Given the description of an element on the screen output the (x, y) to click on. 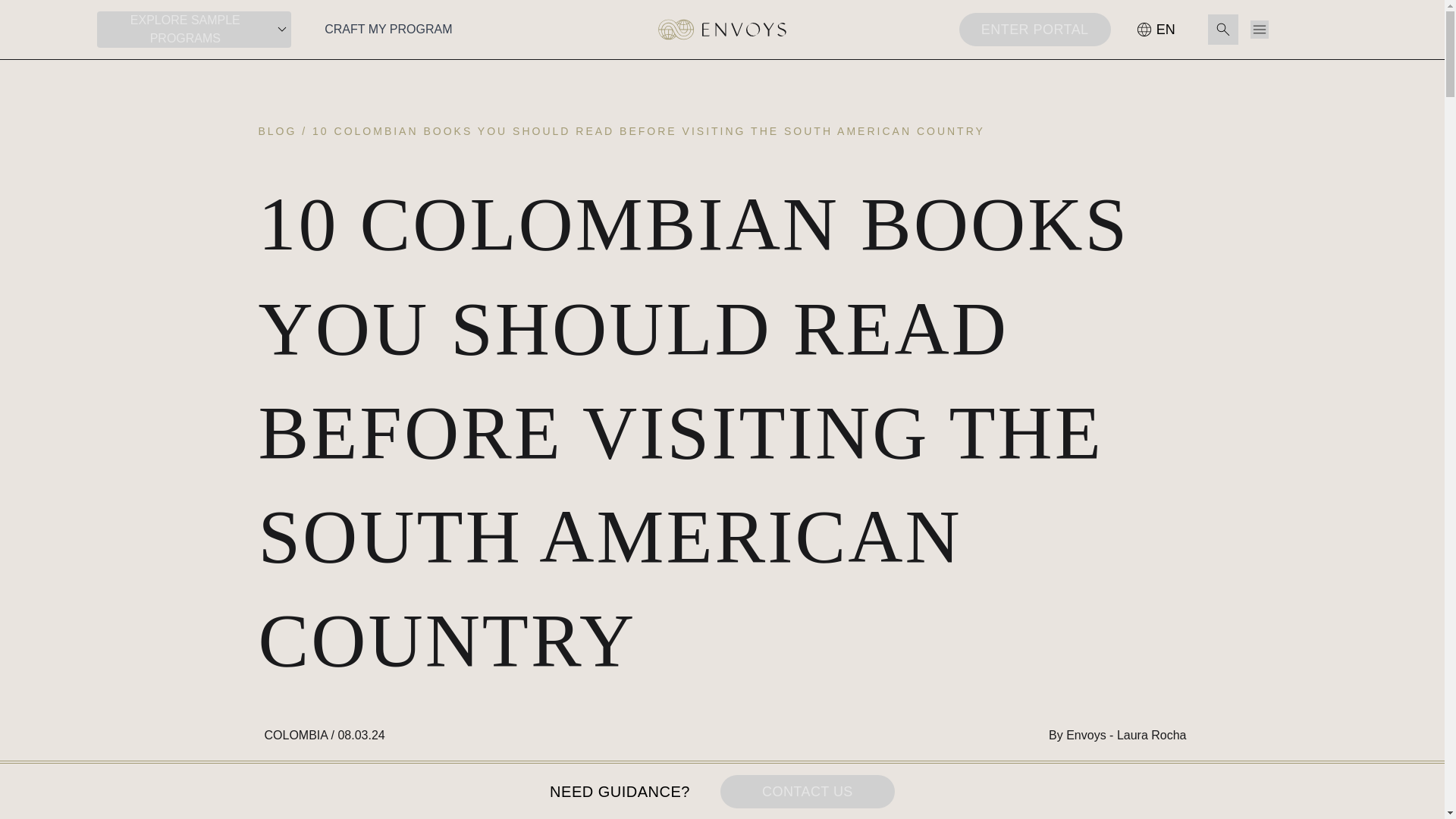
CRAFT MY PROGRAM (387, 29)
EXPLORE SAMPLE PROGRAMS (194, 29)
ENTER PORTAL (1034, 29)
